Given the description of an element on the screen output the (x, y) to click on. 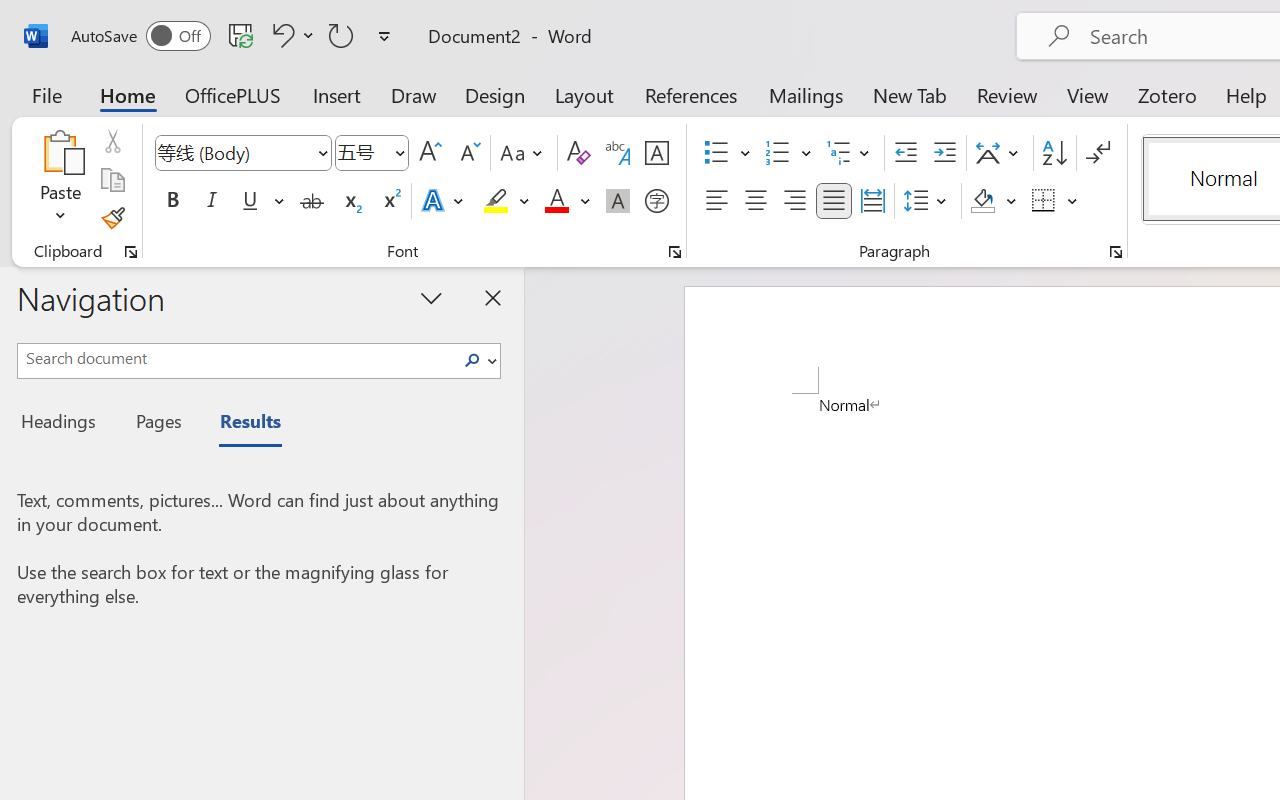
Text Highlight Color (506, 201)
Justify (834, 201)
Customize Quick Access Toolbar (384, 35)
Layout (584, 94)
Review (1007, 94)
Borders (1044, 201)
Save (241, 35)
Undo Apply Quick Style (290, 35)
Distributed (872, 201)
Search (471, 360)
